Given the description of an element on the screen output the (x, y) to click on. 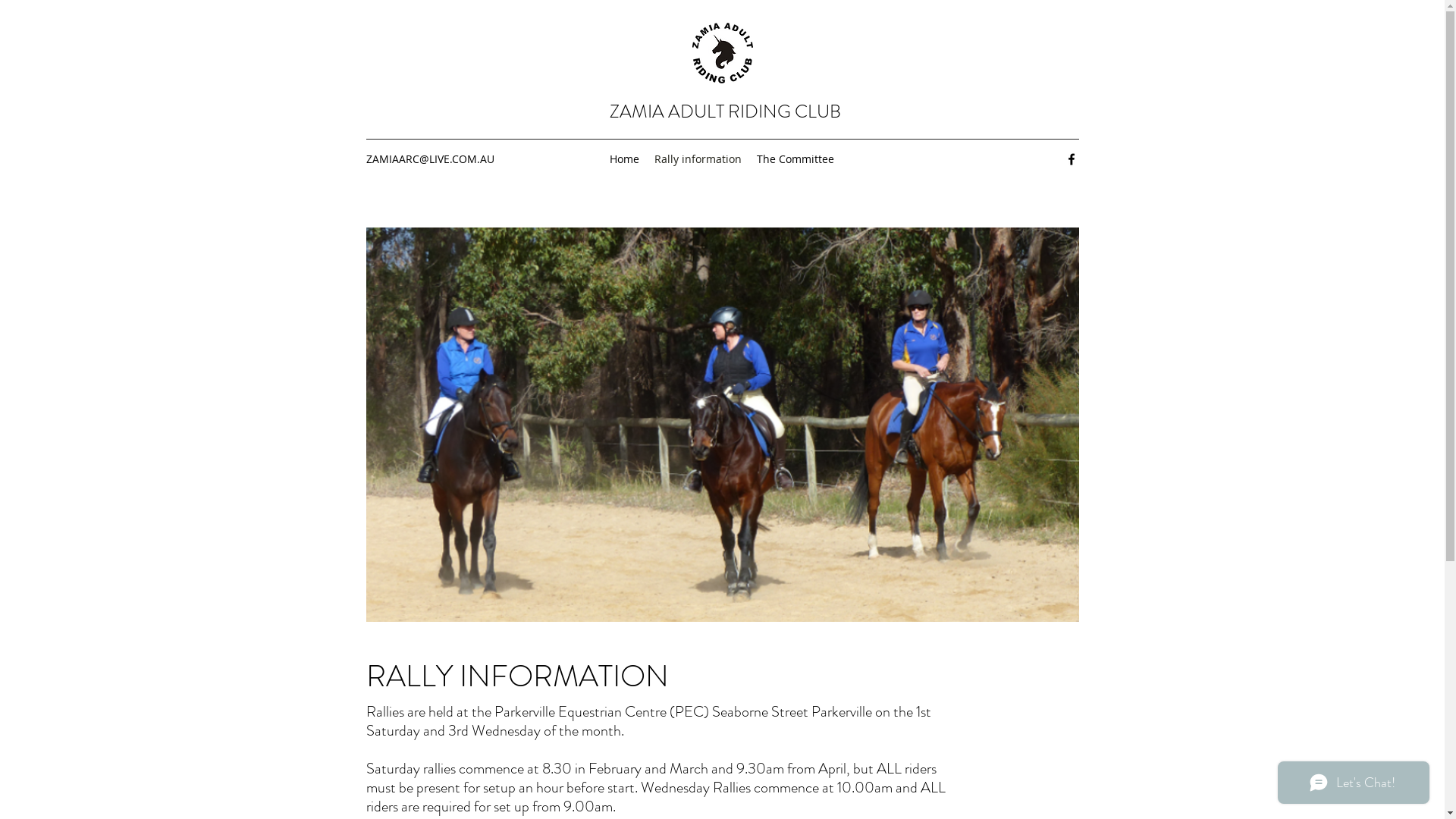
ZAMIAARC@LIVE.COM.AU Element type: text (429, 158)
Rally information Element type: text (697, 158)
The Committee Element type: text (795, 158)
Home Element type: text (624, 158)
